Given the description of an element on the screen output the (x, y) to click on. 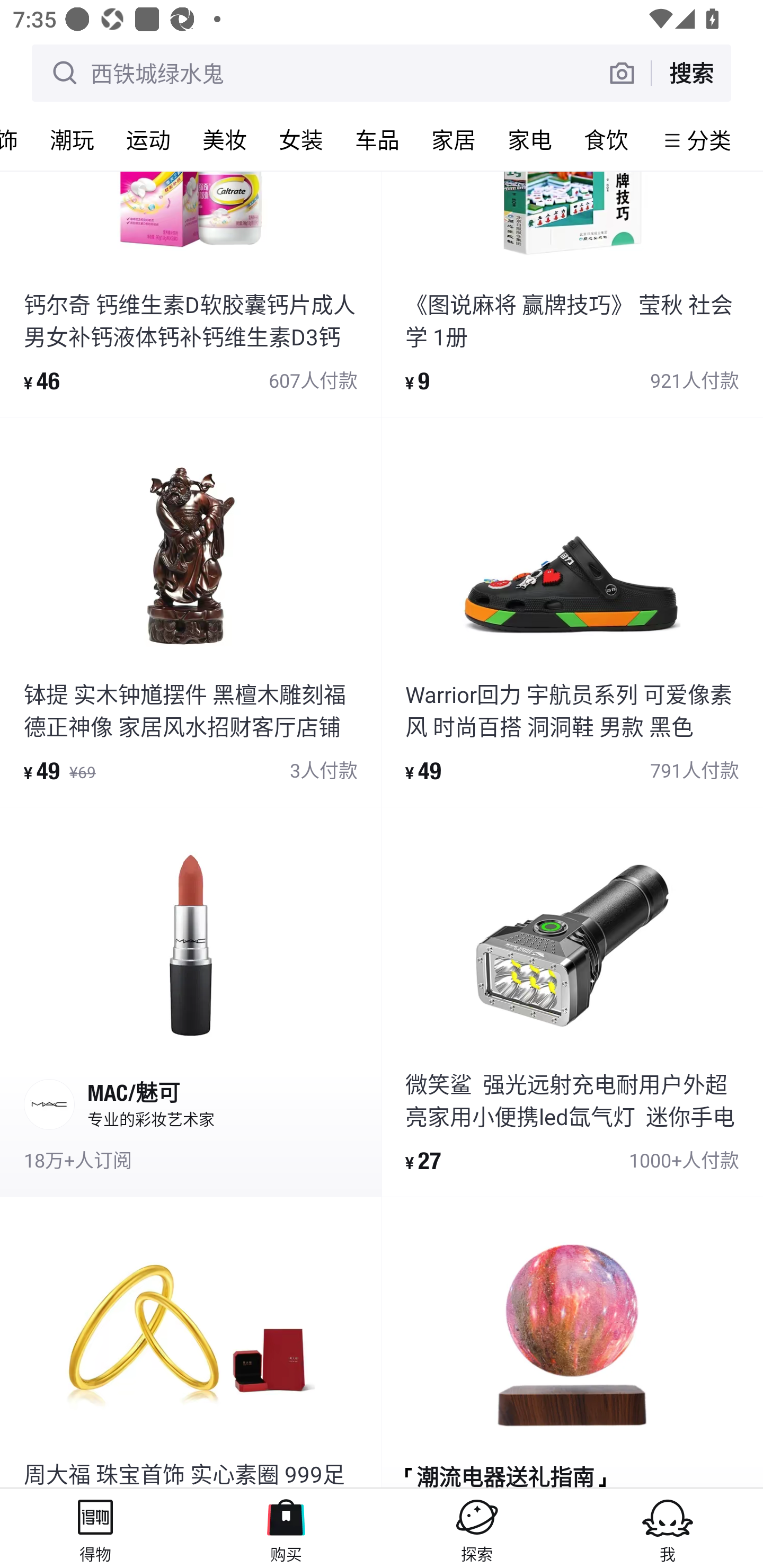
搜索 (690, 72)
潮玩 (71, 139)
运动 (147, 139)
美妆 (224, 139)
女装 (300, 139)
车品 (376, 139)
家居 (453, 139)
家电 (529, 139)
食饮 (605, 139)
分类 (708, 139)
product_item 《图说麻将 赢牌技巧》 莹秋 社会
学 1册 ¥ 9 921人付款 (572, 293)
MAC/魅可 专业的彩妆艺术家 18万+人订阅 (190, 1001)
潮流电器送礼指南 (572, 1342)
得物 (95, 1528)
购买 (285, 1528)
探索 (476, 1528)
我 (667, 1528)
